Given the description of an element on the screen output the (x, y) to click on. 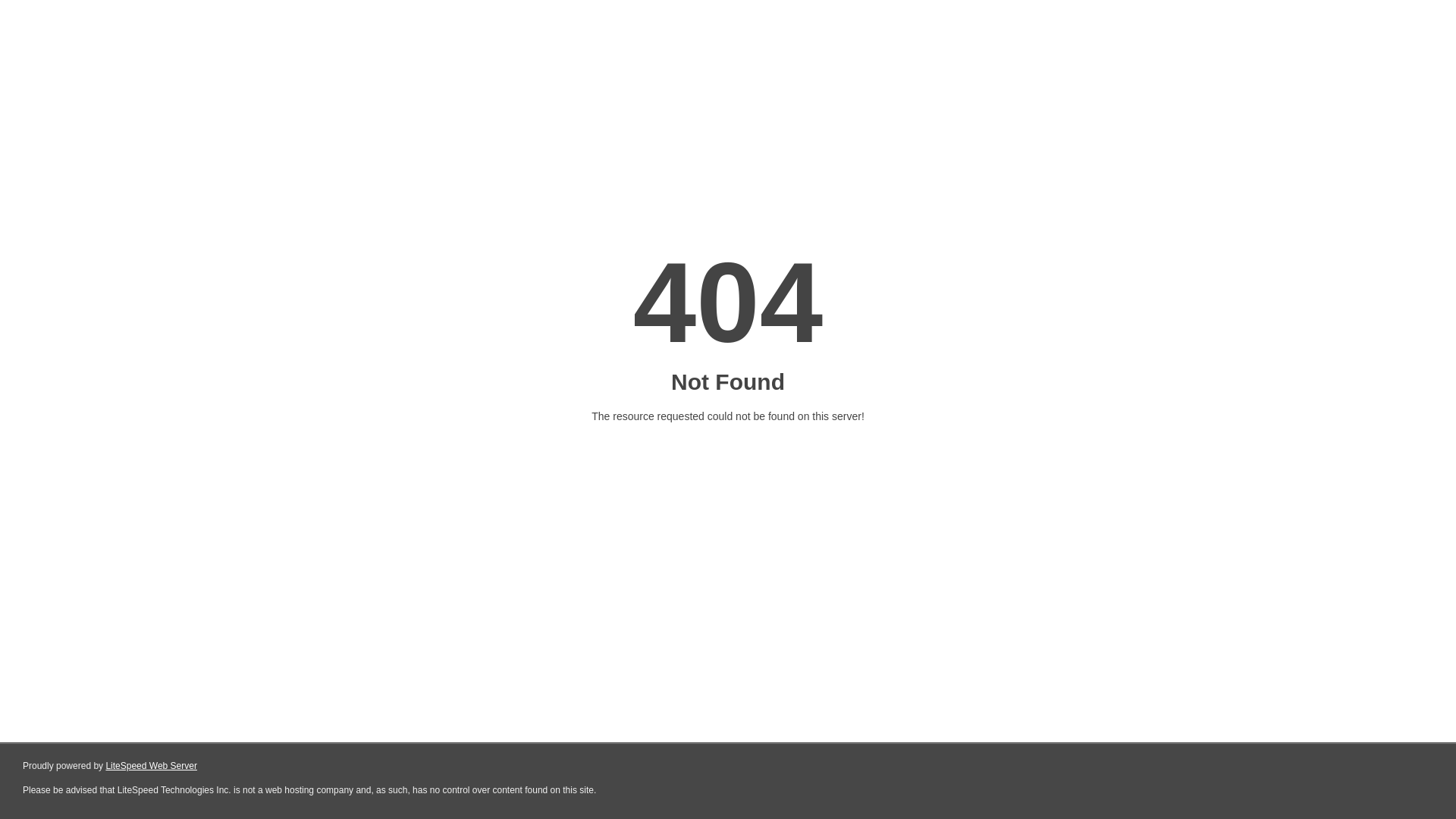
LiteSpeed Web Server Element type: text (151, 765)
